Given the description of an element on the screen output the (x, y) to click on. 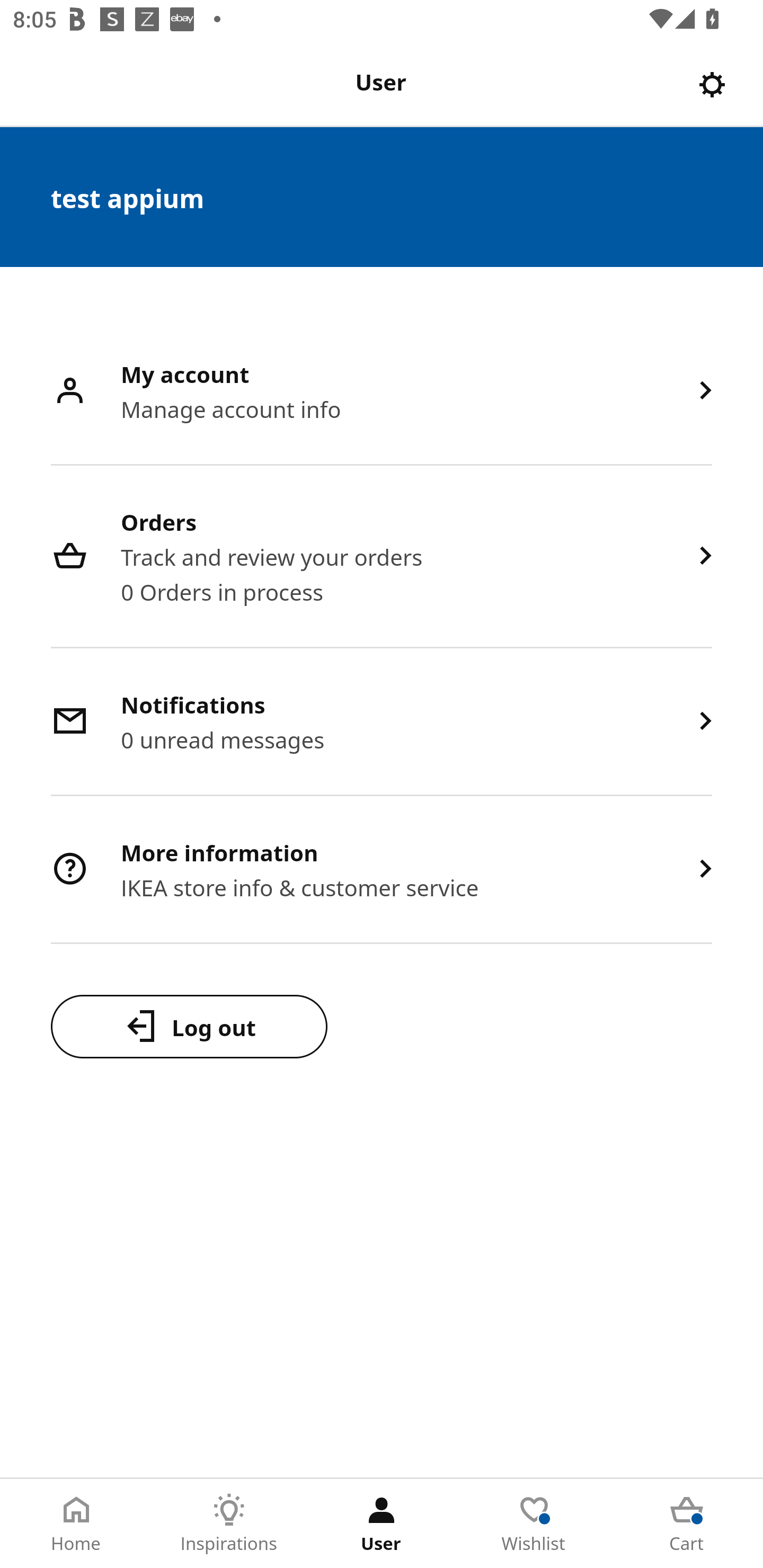
My account
Manage account info (381, 391)
Notifications
0 unread messages (381, 722)
Log out (189, 1026)
Home
Tab 1 of 5 (76, 1522)
Inspirations
Tab 2 of 5 (228, 1522)
User
Tab 3 of 5 (381, 1522)
Wishlist
Tab 4 of 5 (533, 1522)
Cart
Tab 5 of 5 (686, 1522)
